Given the description of an element on the screen output the (x, y) to click on. 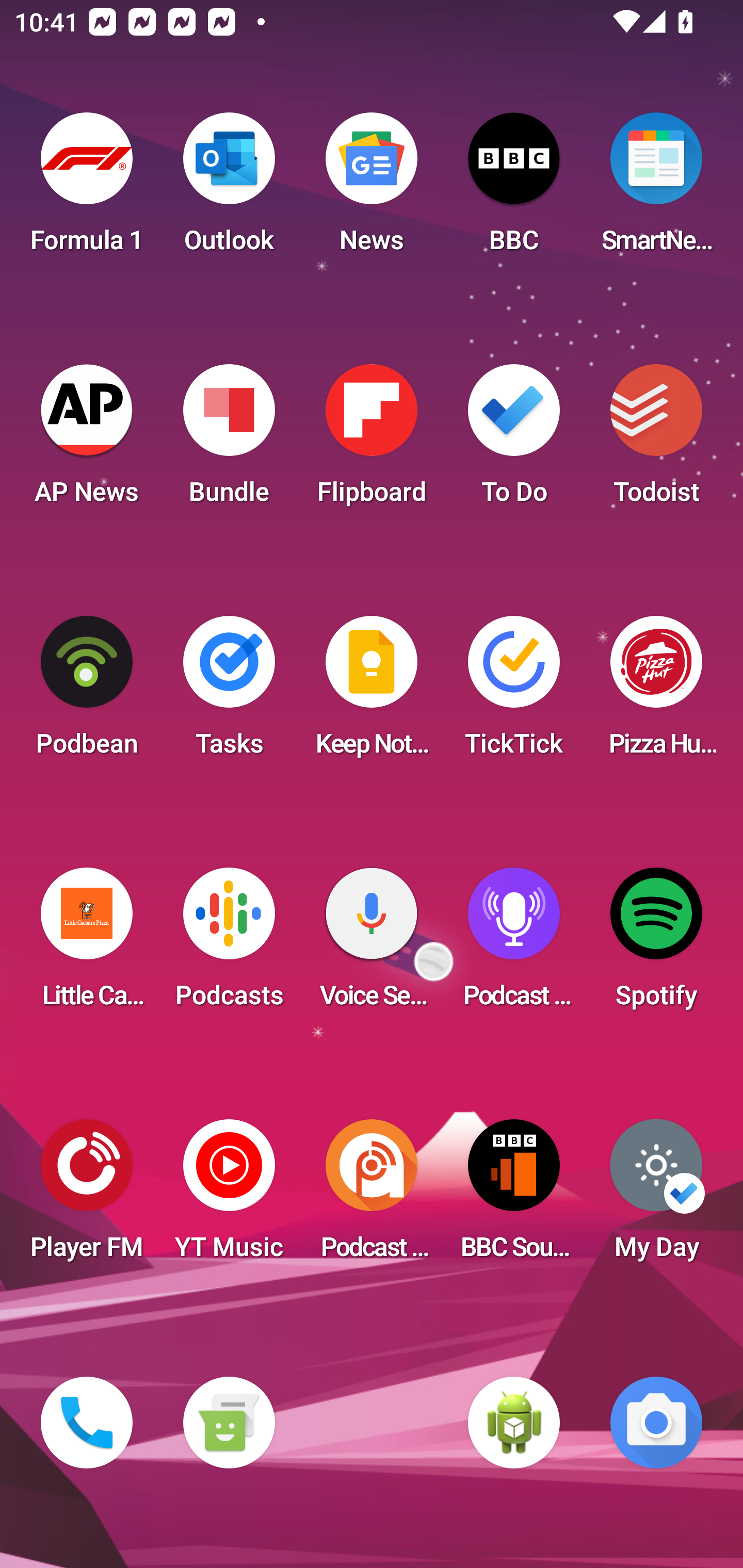
Formula 1 (86, 188)
Outlook (228, 188)
News (371, 188)
BBC (513, 188)
SmartNews (656, 188)
AP News (86, 440)
Bundle (228, 440)
Flipboard (371, 440)
To Do (513, 440)
Todoist (656, 440)
Podbean (86, 692)
Tasks (228, 692)
Keep Notes (371, 692)
TickTick (513, 692)
Pizza Hut HK & Macau (656, 692)
Little Caesars Pizza (86, 943)
Podcasts (228, 943)
Voice Search (371, 943)
Podcast Player (513, 943)
Spotify (656, 943)
Player FM (86, 1195)
YT Music (228, 1195)
Podcast Addict (371, 1195)
BBC Sounds (513, 1195)
My Day (656, 1195)
Phone (86, 1422)
Messaging (228, 1422)
WebView Browser Tester (513, 1422)
Camera (656, 1422)
